Given the description of an element on the screen output the (x, y) to click on. 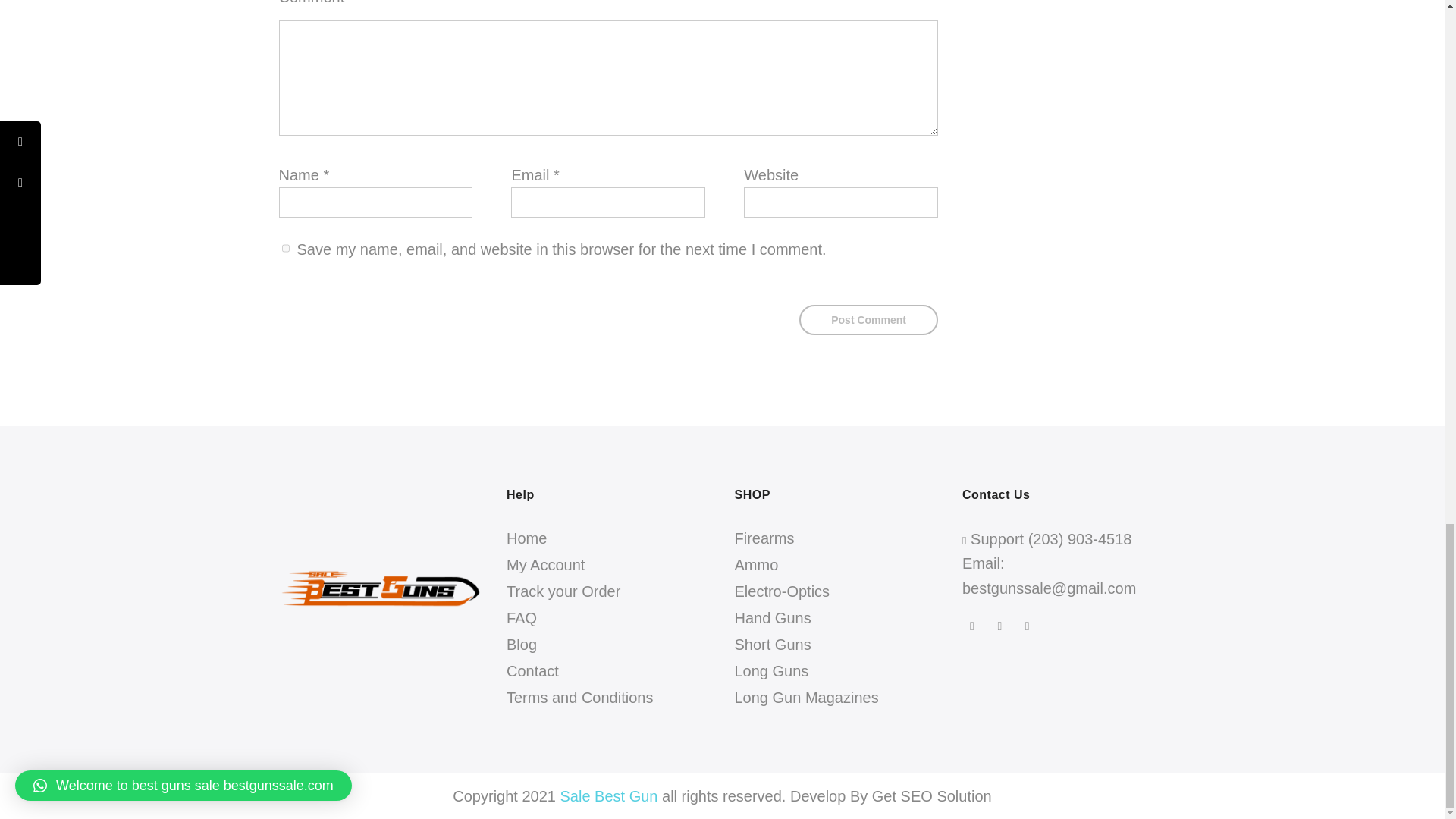
Post Comment (868, 319)
